Given the description of an element on the screen output the (x, y) to click on. 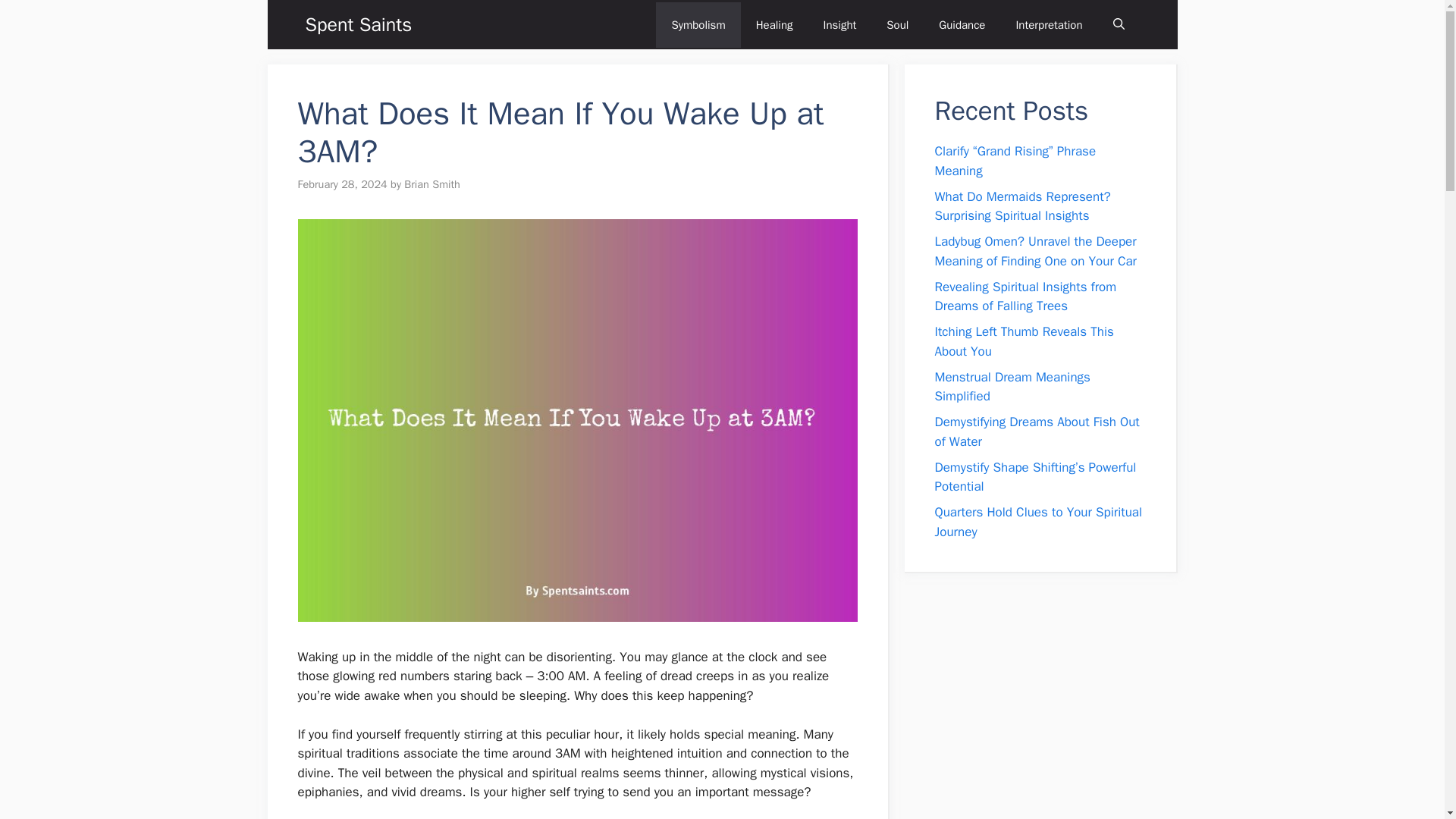
Guidance (961, 23)
Soul (896, 23)
Healing (774, 23)
Revealing Spiritual Insights from Dreams of Falling Trees (1025, 296)
Demystifying Dreams About Fish Out of Water (1036, 431)
Interpretation (1048, 23)
What Do Mermaids Represent? Surprising Spiritual Insights (1021, 205)
Menstrual Dream Meanings Simplified (1011, 386)
Spent Saints (358, 24)
